Given the description of an element on the screen output the (x, y) to click on. 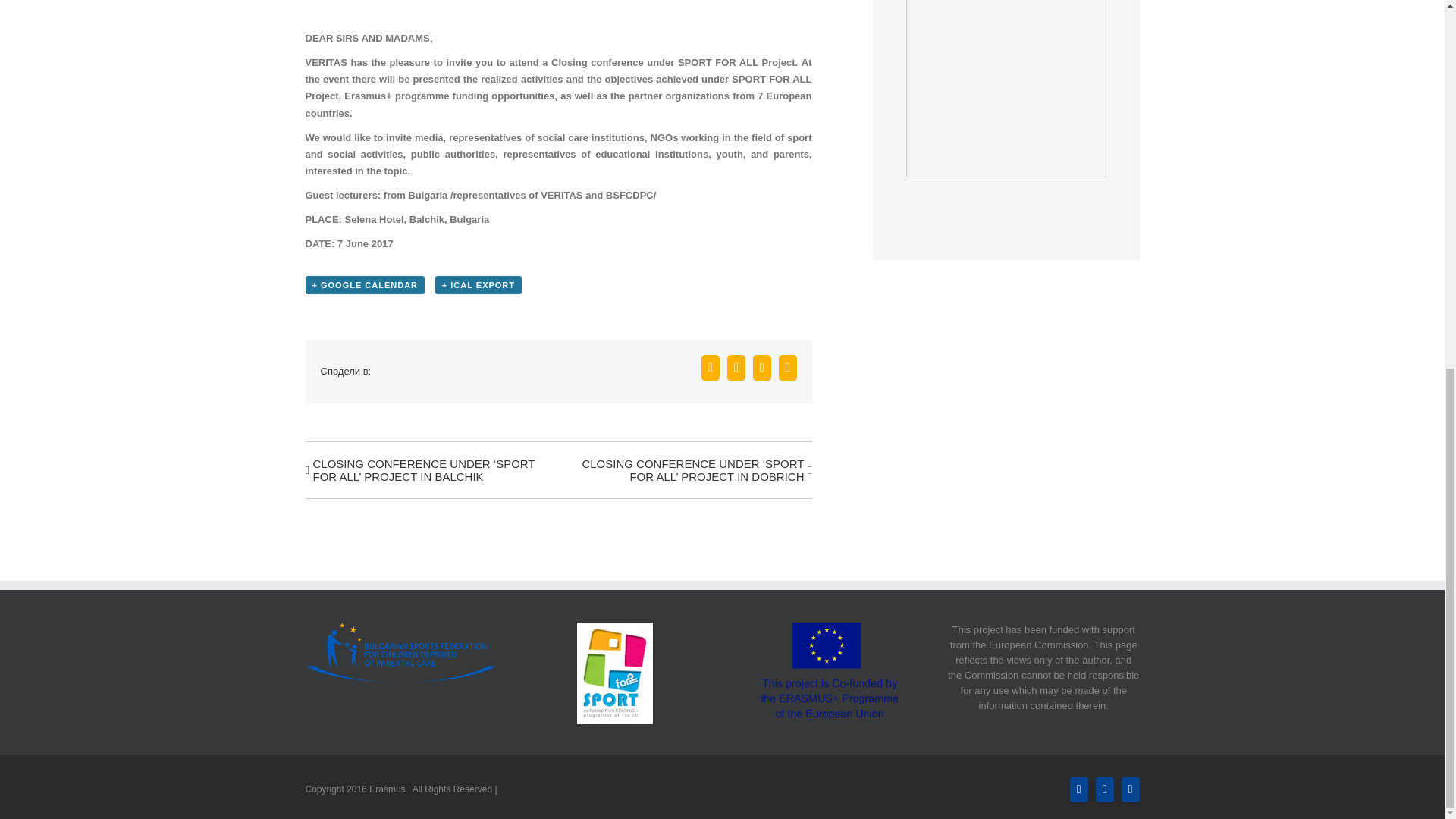
Add to Google Calendar (364, 285)
Download .ics file (478, 285)
